Given the description of an element on the screen output the (x, y) to click on. 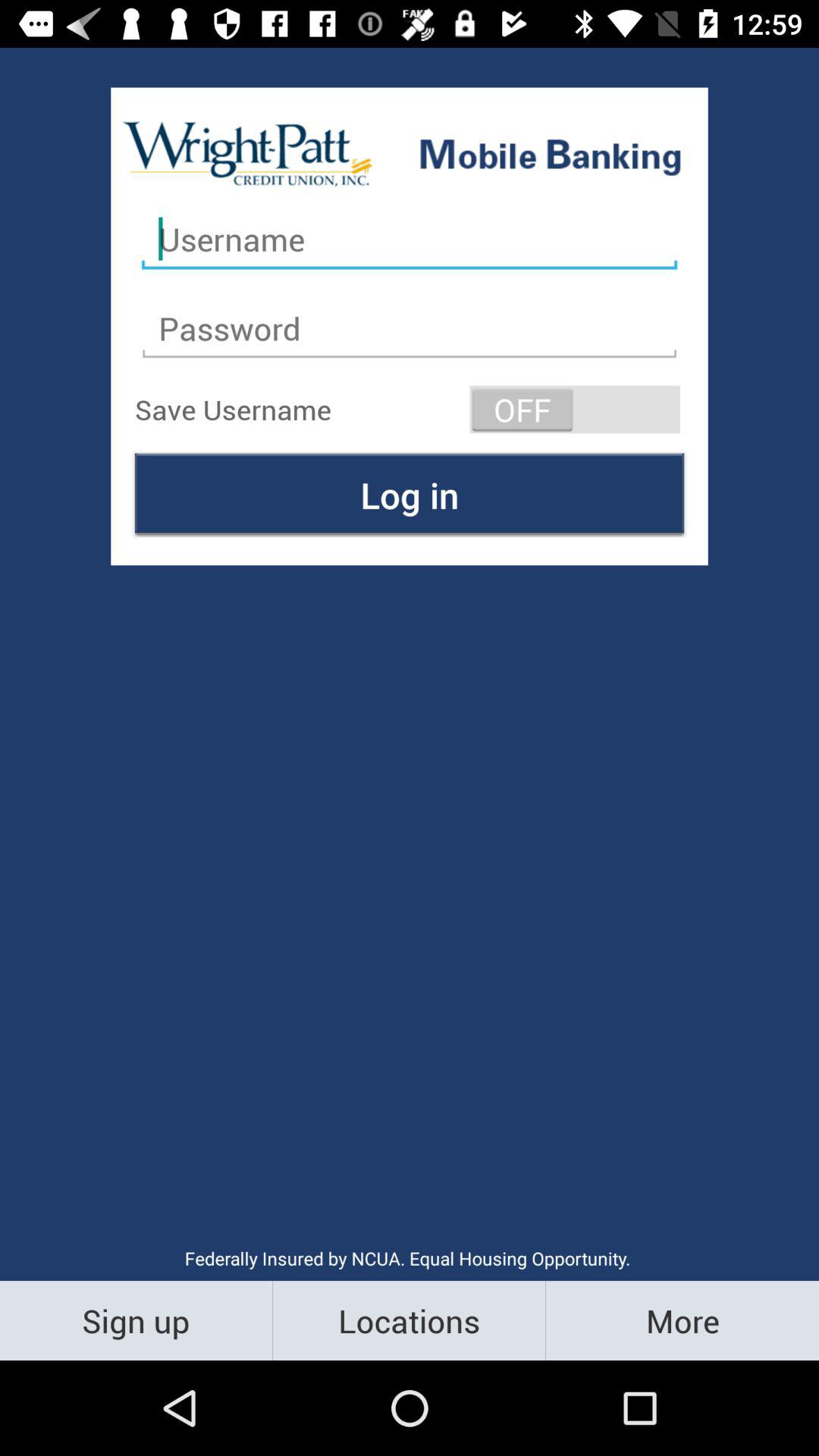
turn on the item to the right of sign up (409, 1320)
